Given the description of an element on the screen output the (x, y) to click on. 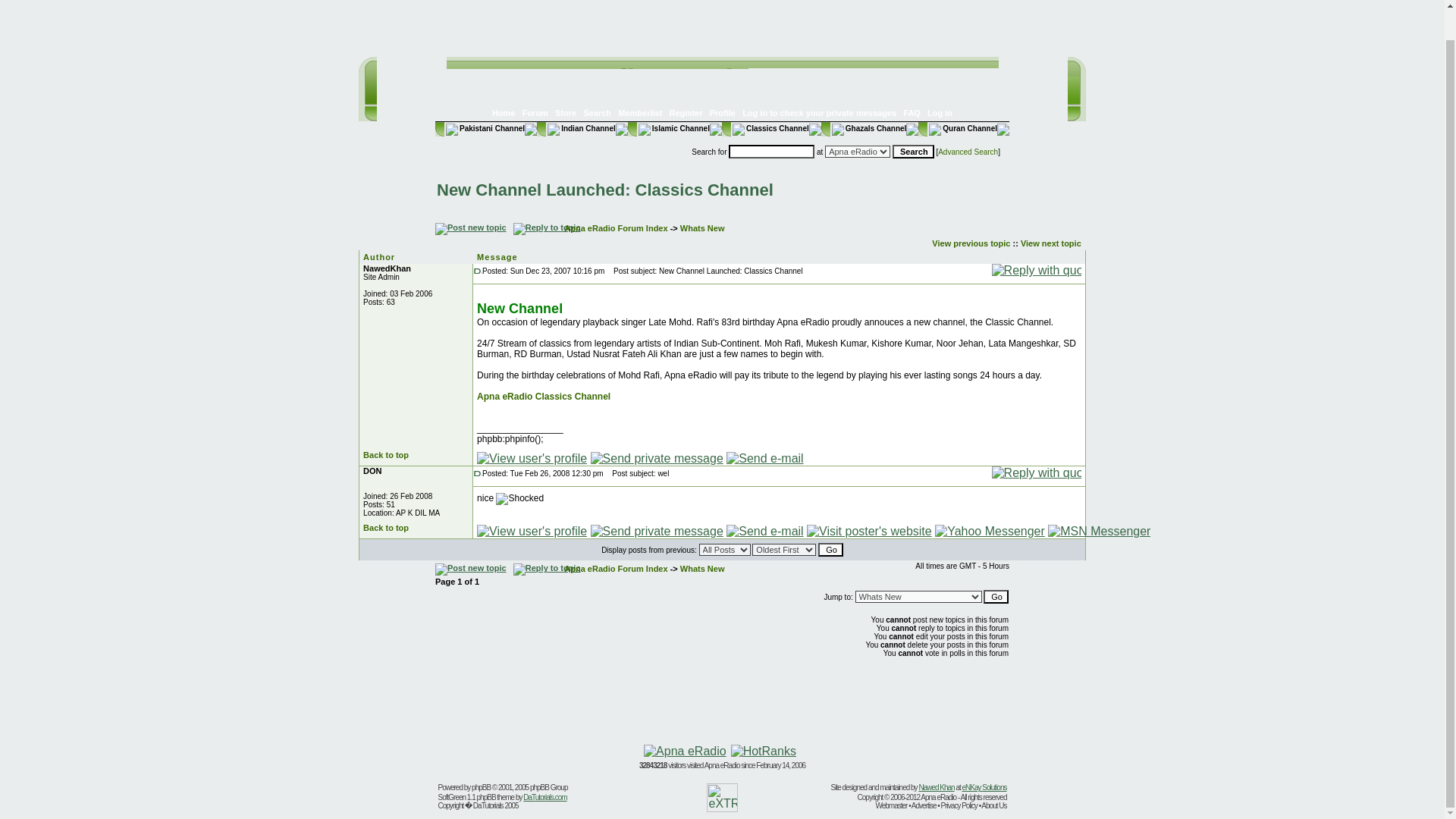
Pakistani Channel (484, 128)
Log in (939, 112)
Advanced Search (967, 152)
Apna eRadio Classics Channel (543, 396)
FAQ (911, 112)
New Channel Launched: Classics Channel (604, 189)
Quran Channel (962, 128)
Search (913, 151)
Forum (535, 112)
Apna eRadio Forum Index (615, 227)
Register (684, 112)
View next topic (1050, 243)
View previous topic (970, 243)
Go (996, 596)
Search (597, 112)
